Given the description of an element on the screen output the (x, y) to click on. 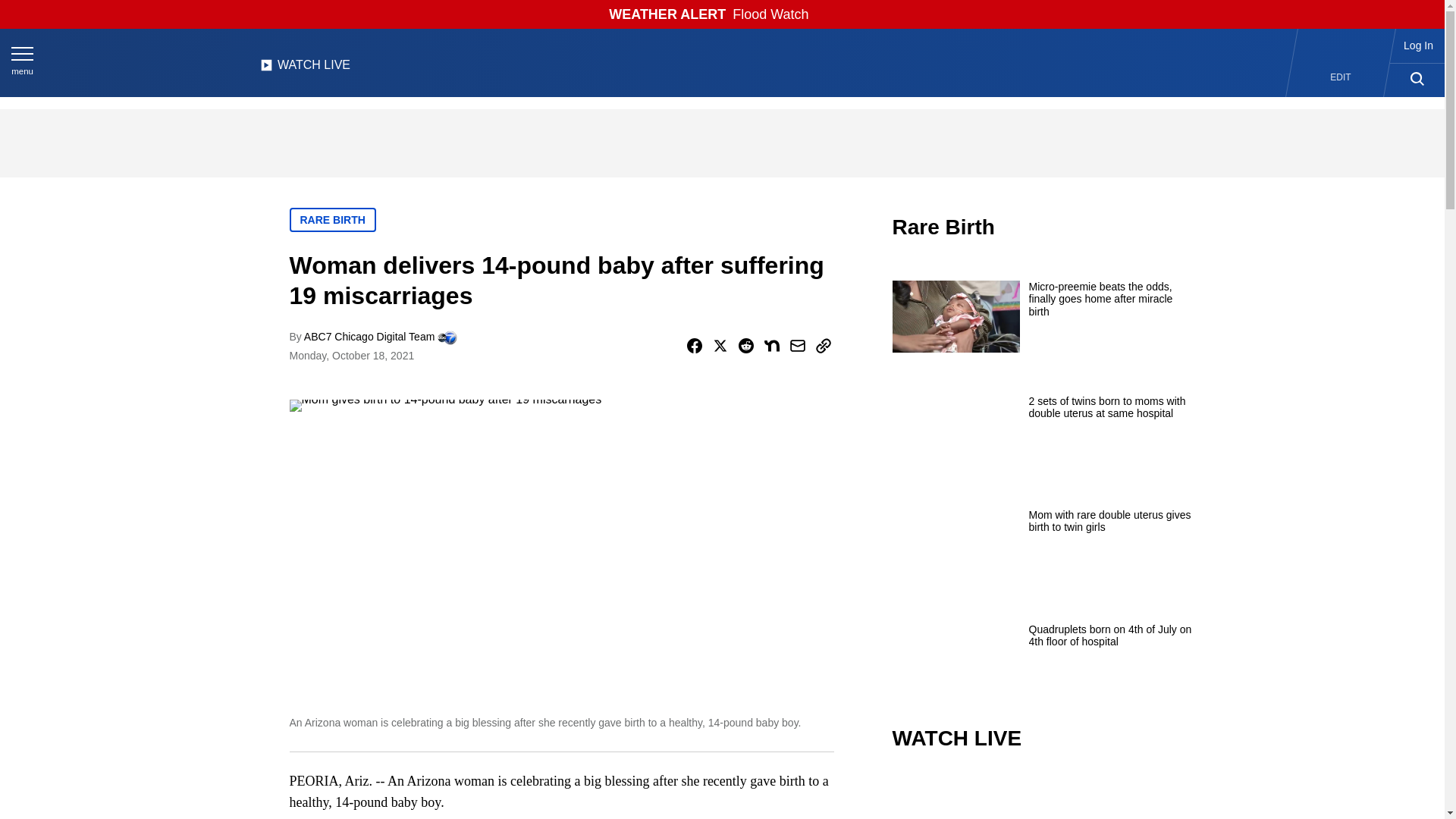
video.title (1043, 796)
WATCH LIVE (305, 69)
EDIT (1340, 77)
